Given the description of an element on the screen output the (x, y) to click on. 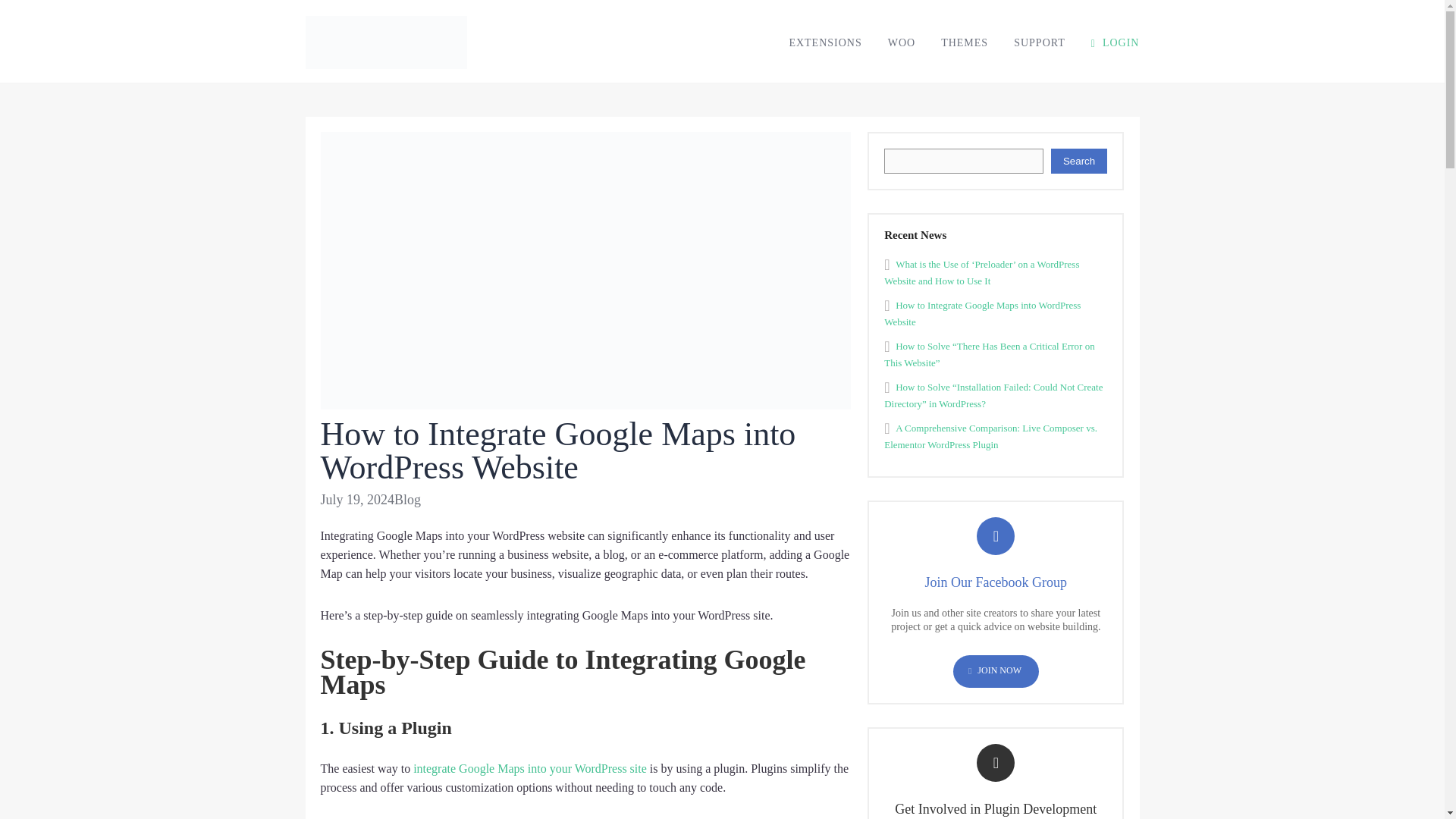
Blog (407, 499)
SUPPORT (1039, 42)
JOIN NOW  (996, 671)
Get Involved in Plugin Development (995, 808)
THEMES (964, 42)
integrate Google Maps into your WordPress site (529, 768)
Join Our Facebook Group (995, 581)
 LOGIN (1115, 42)
How to Integrate Google Maps into WordPress Website (981, 313)
Search (1079, 160)
WOO (901, 42)
EXTENSIONS (825, 42)
